Given the description of an element on the screen output the (x, y) to click on. 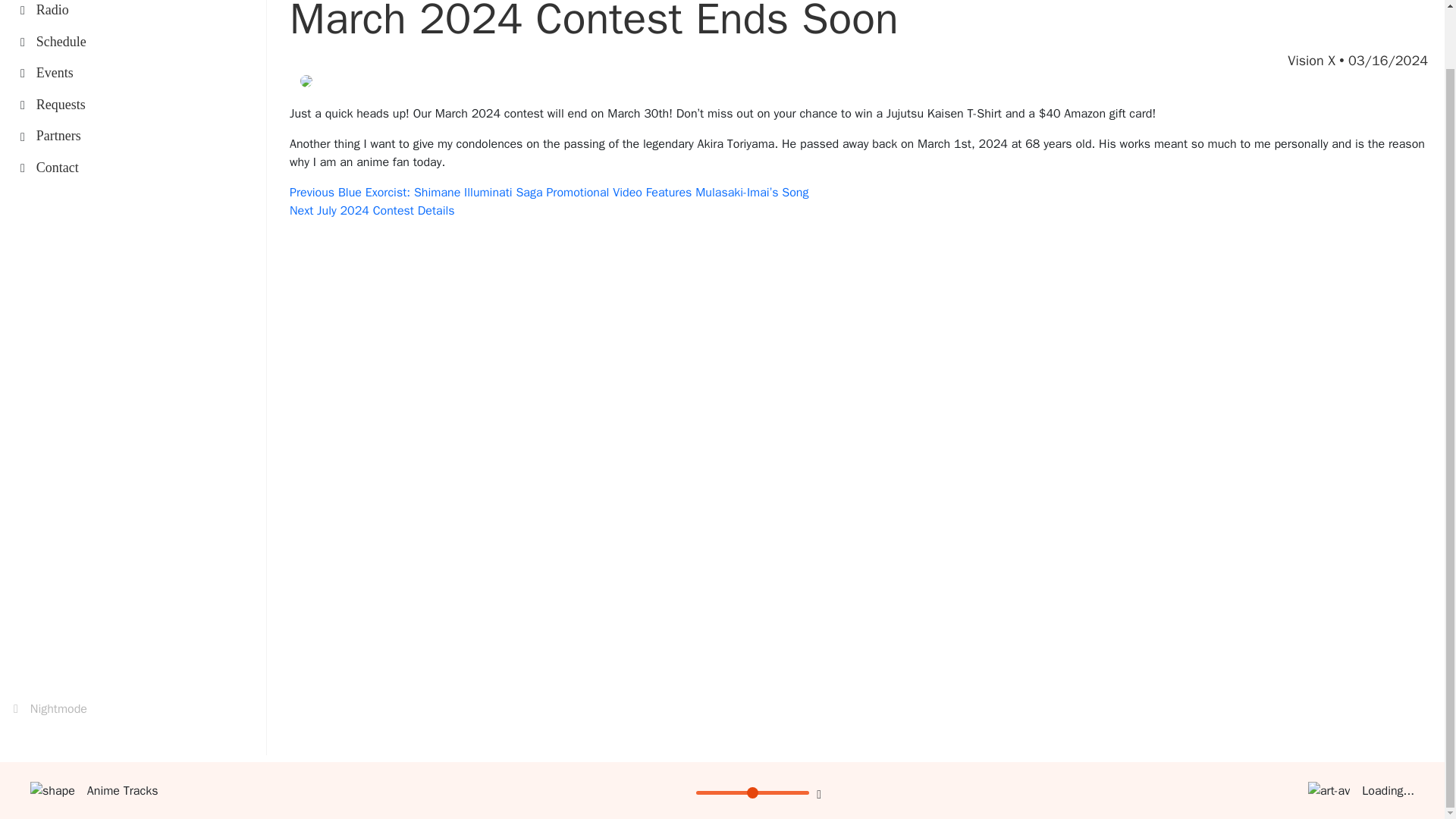
Events (108, 73)
Nightmode (371, 210)
Partners (49, 709)
Requests (108, 135)
March 2024 Contest Ends Soon (108, 105)
Schedule (593, 22)
0.5 (108, 42)
Radio (752, 728)
Contact (108, 10)
